Given the description of an element on the screen output the (x, y) to click on. 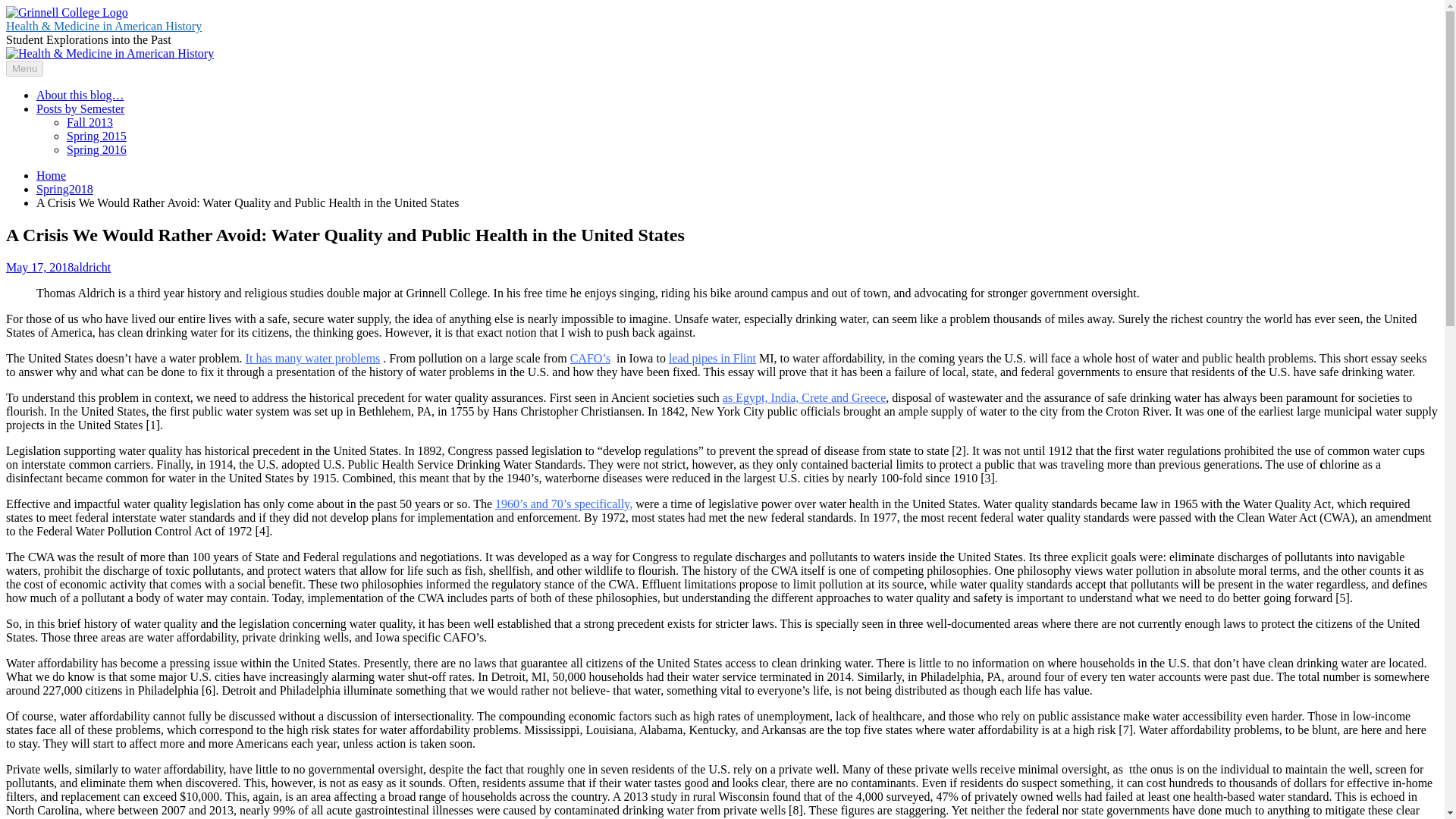
May 17, 2018 (39, 267)
It has many water problems (313, 358)
Home (50, 174)
Spring 2016 (96, 149)
as Egypt, India, Crete and Greece (803, 397)
Spring2018 (64, 188)
Fall 2013 (89, 122)
lead pipes in Flint (711, 358)
aldricht (92, 267)
Menu (24, 68)
Spring 2015 (96, 135)
Posts by Semester (79, 108)
